Given the description of an element on the screen output the (x, y) to click on. 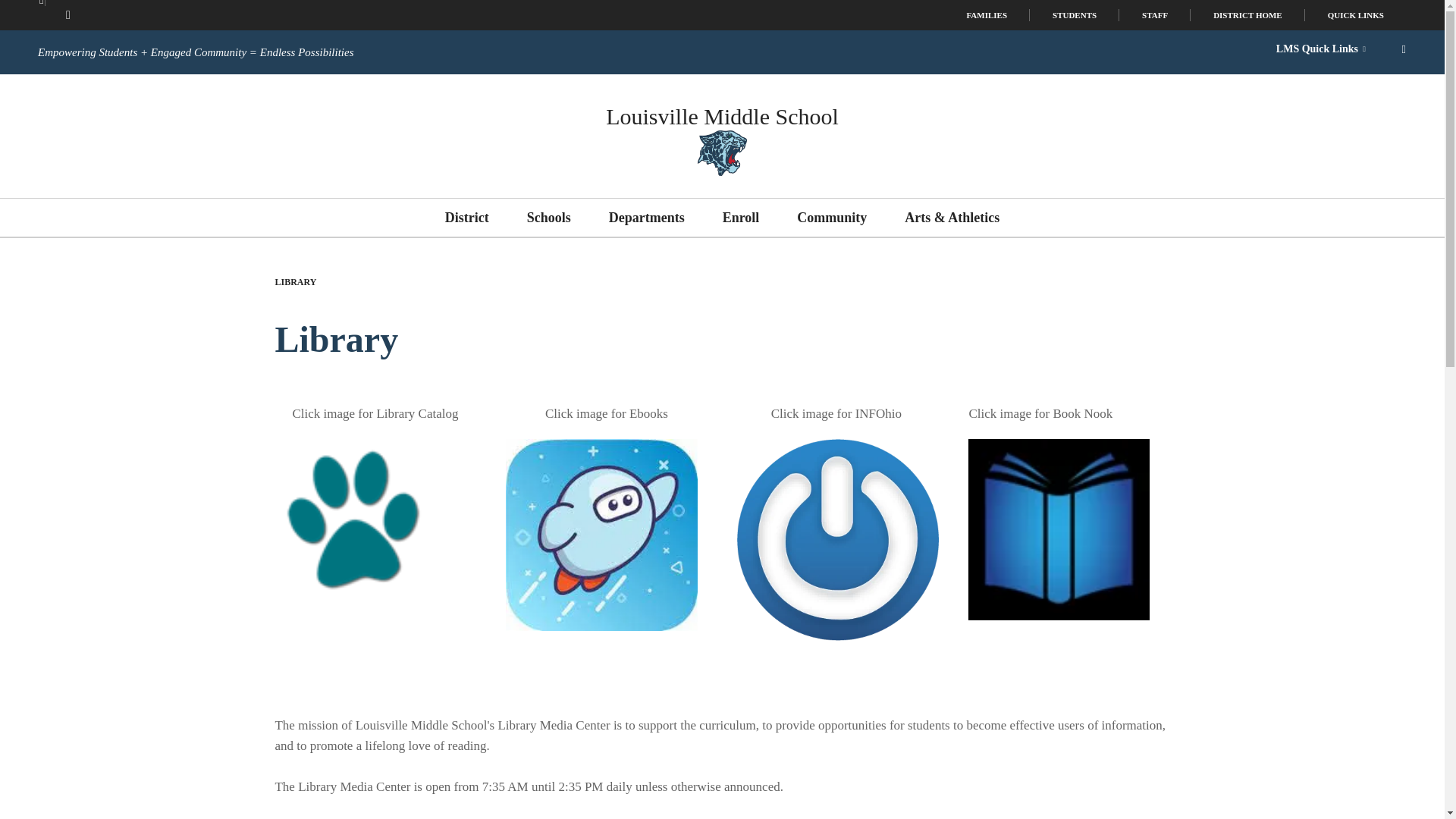
STUDENTS (1074, 15)
District (467, 218)
Community (831, 218)
Departments (646, 218)
QUICK LINKS (1355, 15)
FAMILIES (986, 15)
Schools (548, 218)
Enroll (741, 218)
LMS Quick Links (1320, 48)
DISTRICT HOME (1247, 15)
STAFF (1155, 15)
District Facebook (67, 15)
Louisville Middle School (721, 116)
